Given the description of an element on the screen output the (x, y) to click on. 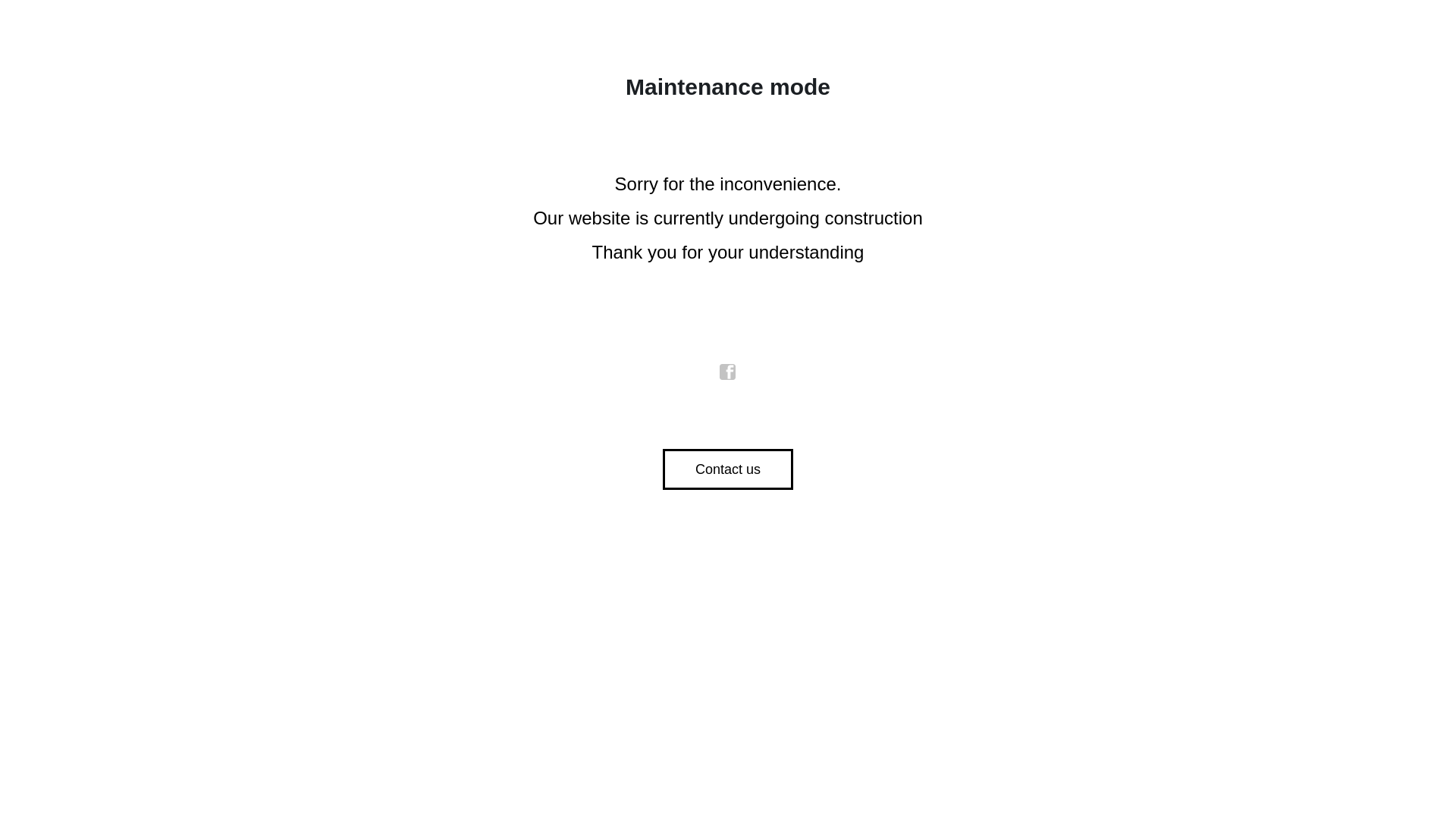
Contact us Element type: text (727, 468)
facebook Element type: text (727, 372)
